Given the description of an element on the screen output the (x, y) to click on. 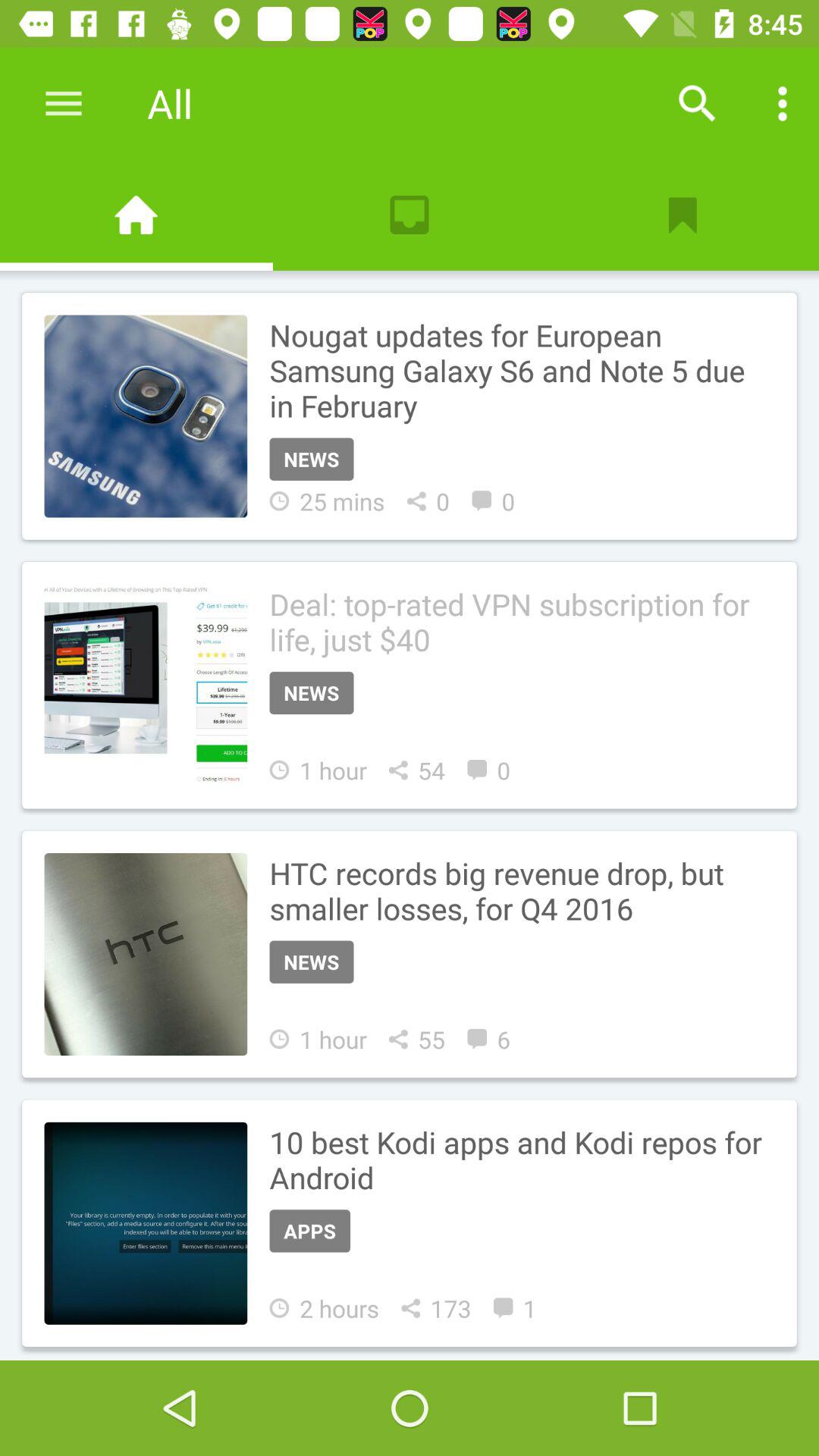
bookmark (682, 214)
